Given the description of an element on the screen output the (x, y) to click on. 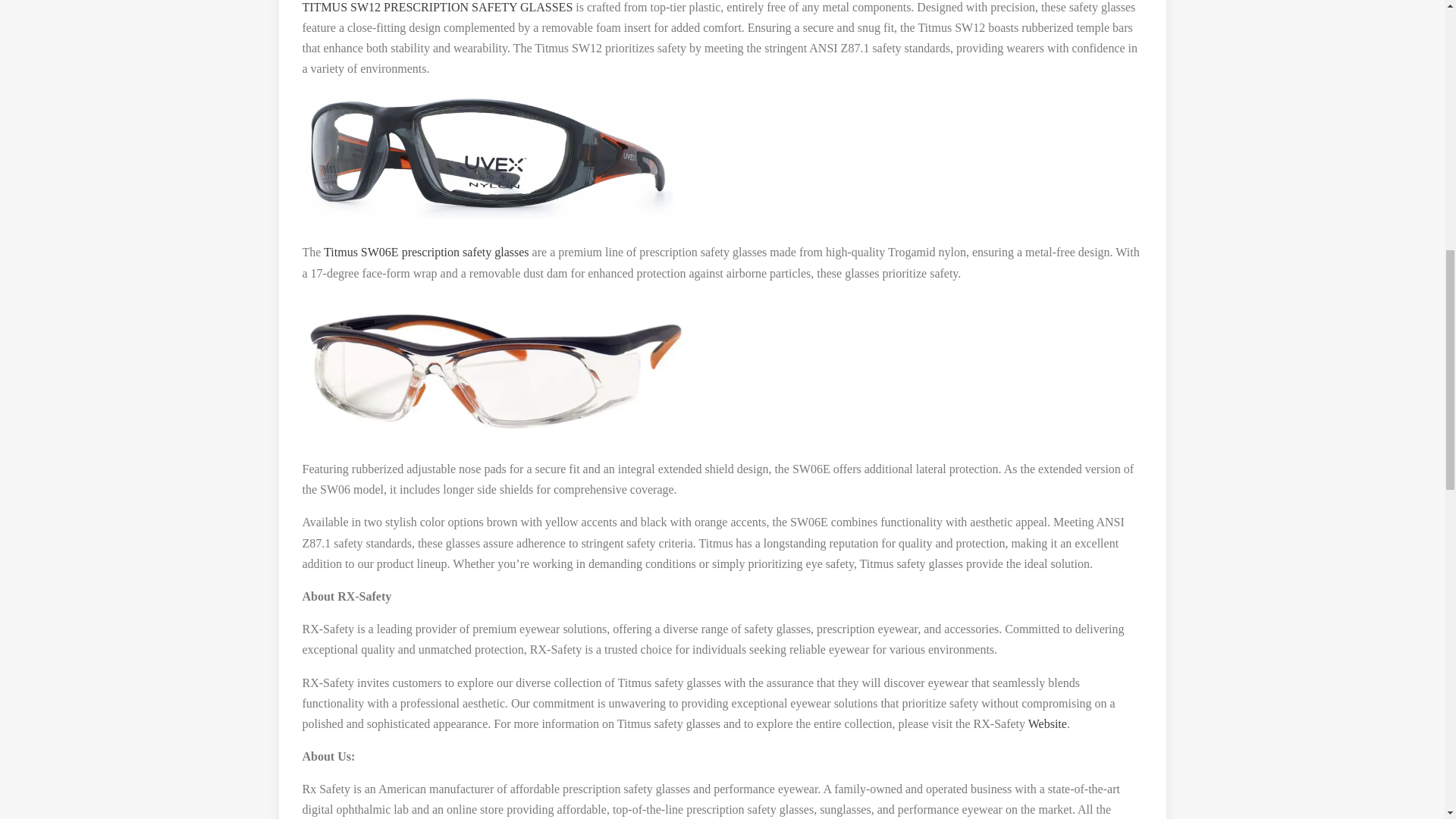
Titmus SW06E prescription safety glasses (426, 251)
TITMUS SW12 PRESCRIPTION SAFETY GLASSES (436, 6)
Website (1047, 723)
